Given the description of an element on the screen output the (x, y) to click on. 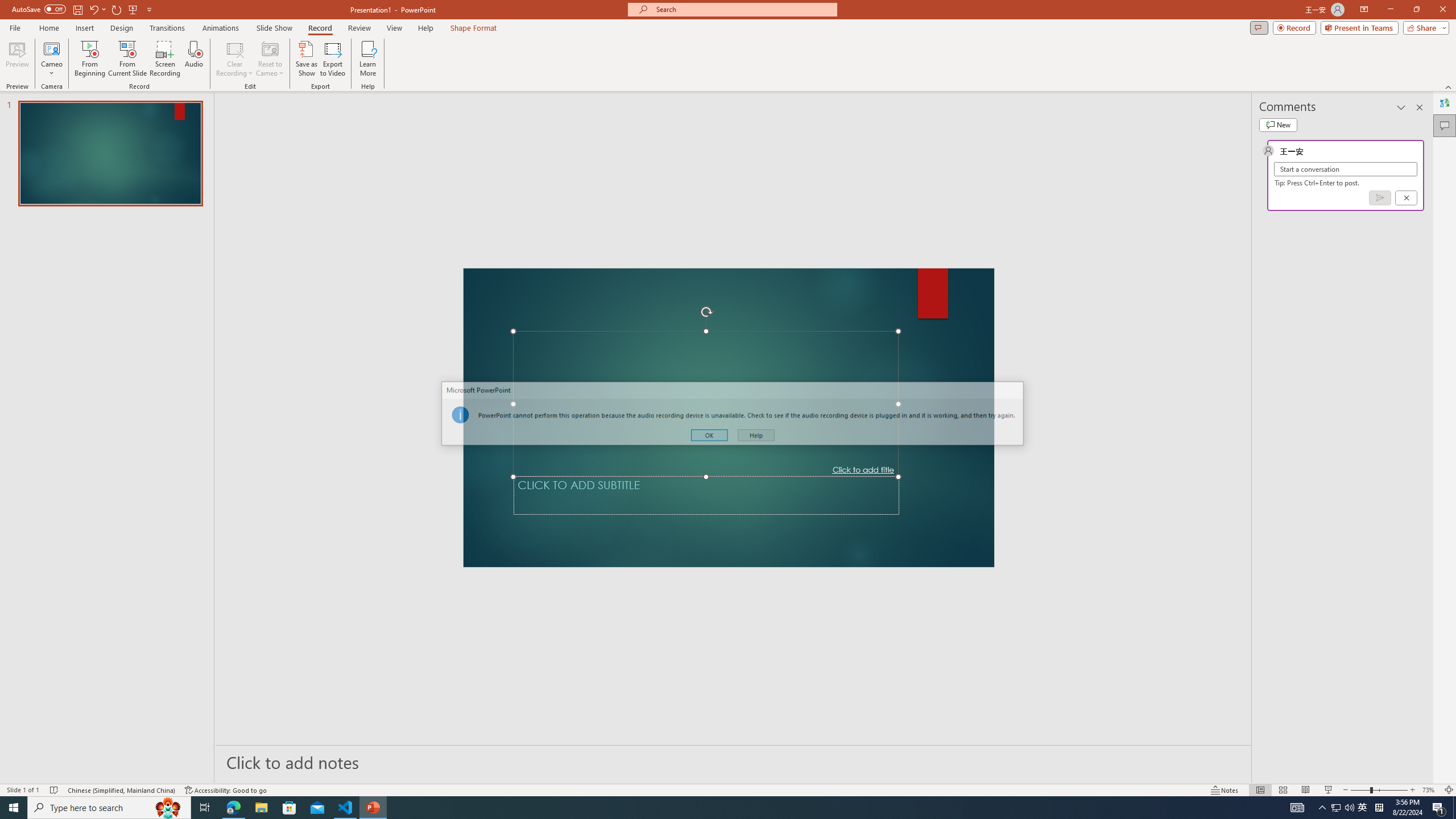
New comment (1278, 124)
Zoom 73% (1430, 790)
